Given the description of an element on the screen output the (x, y) to click on. 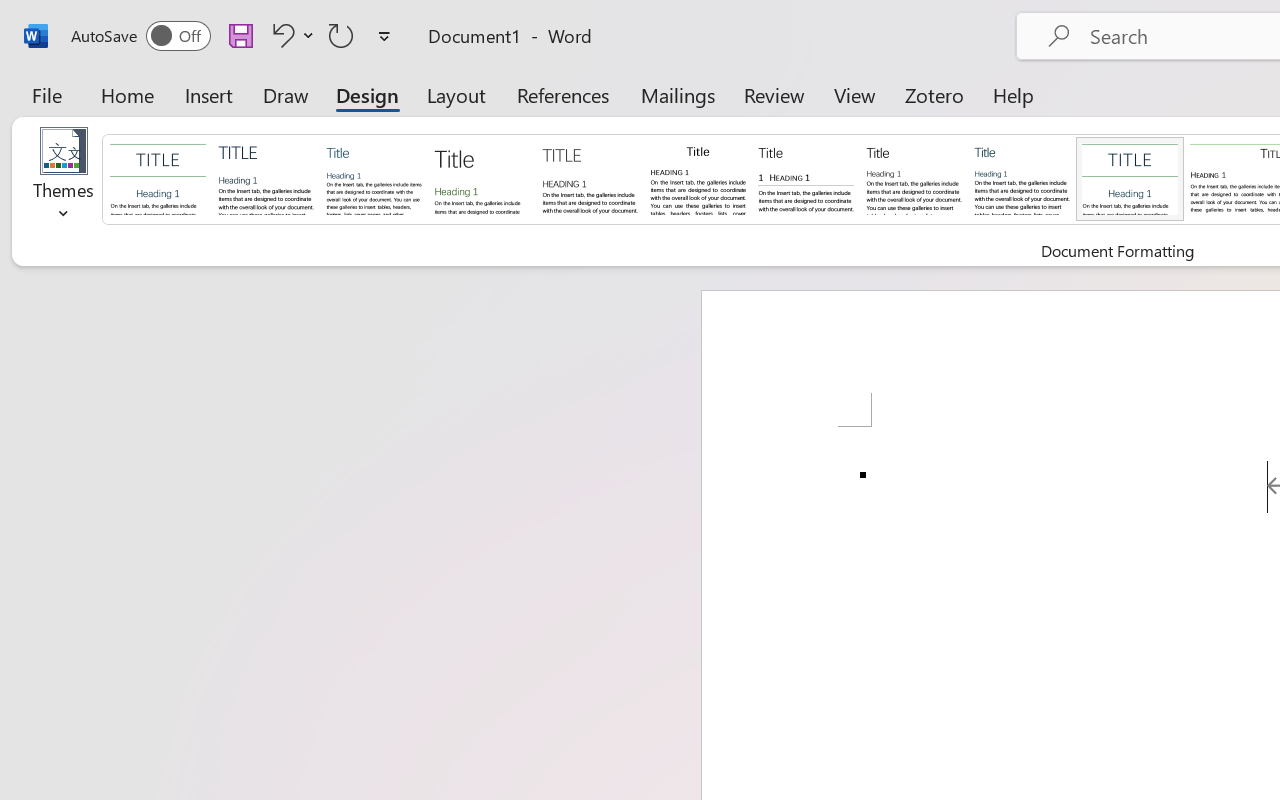
Centered (1130, 178)
Repeat Style (341, 35)
Undo Apply Quick Style Set (280, 35)
Black & White (Numbered) (806, 178)
Undo Apply Quick Style Set (290, 35)
